Given the description of an element on the screen output the (x, y) to click on. 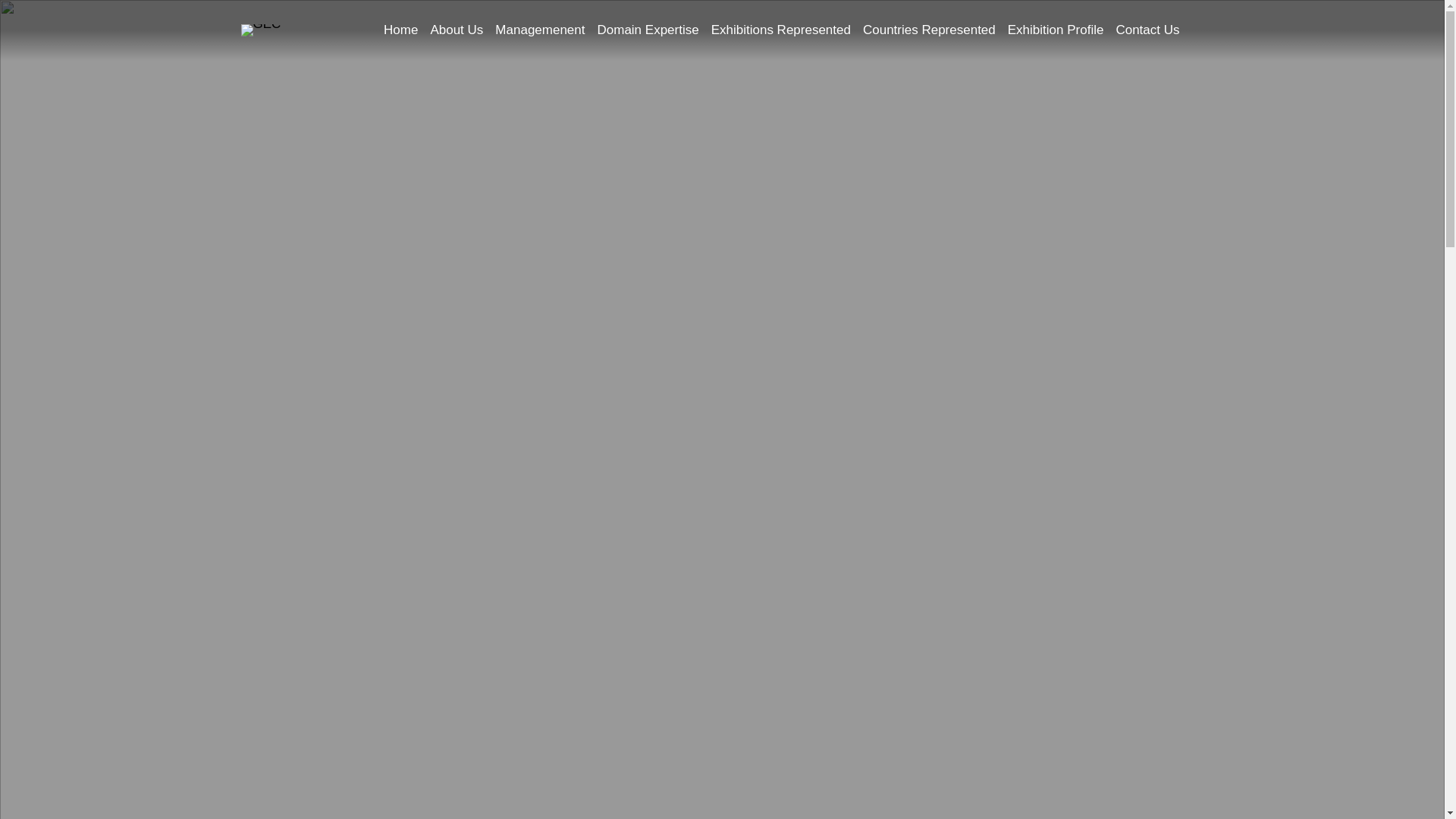
Exhibitions Represented (780, 29)
Managemenent (540, 29)
Contact Us (1147, 29)
Countries Represented (929, 29)
Exhibition Profile (1055, 29)
Domain Expertise (647, 29)
Home (400, 29)
About Us (456, 29)
